Given the description of an element on the screen output the (x, y) to click on. 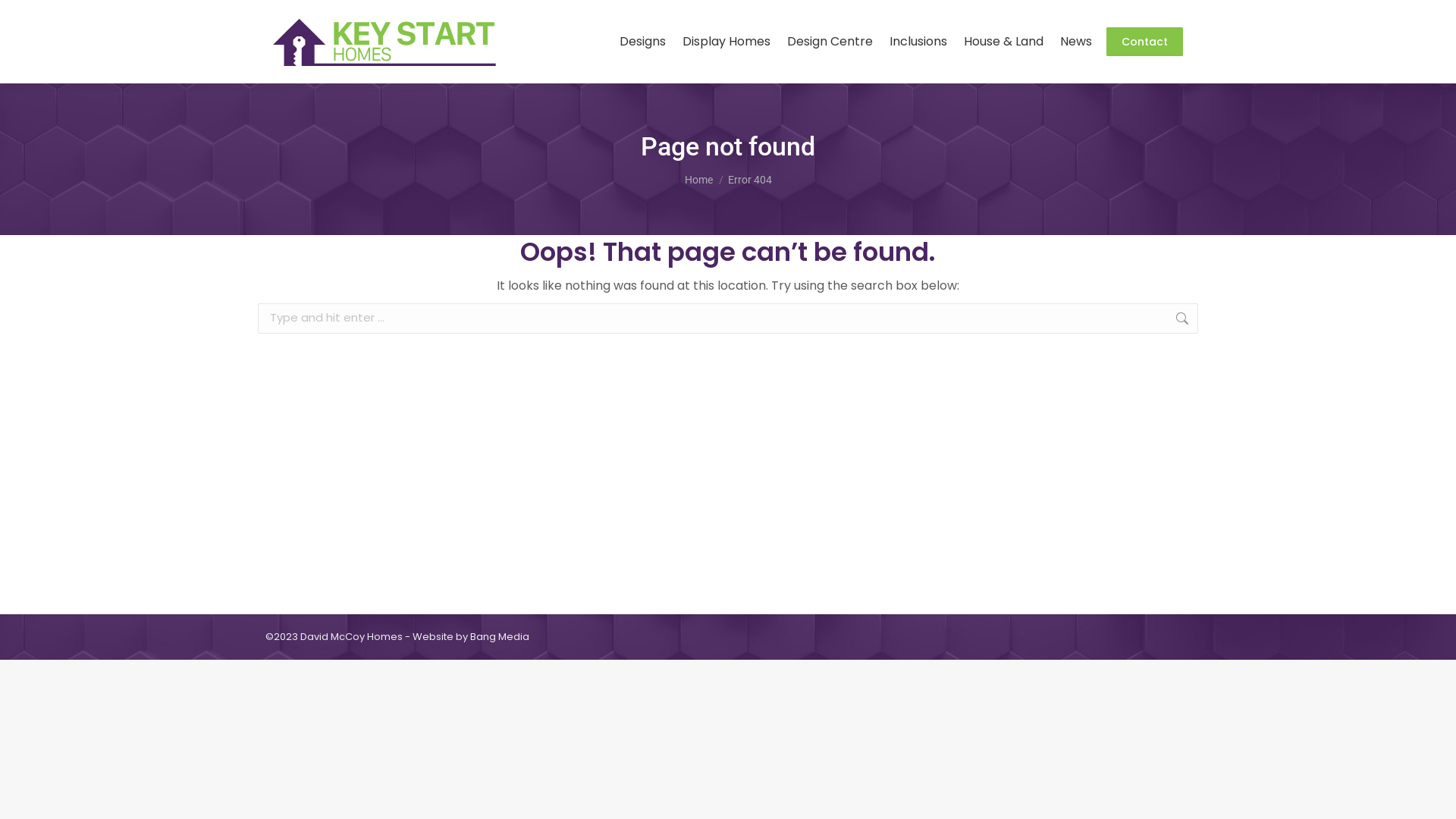
Home Element type: text (698, 179)
Contact Element type: text (1144, 41)
House & Land Element type: text (1003, 41)
Website by Bang Media Element type: text (470, 636)
Design Centre Element type: text (829, 41)
Go! Element type: text (1221, 319)
News Element type: text (1076, 41)
Display Homes Element type: text (726, 41)
Designs Element type: text (642, 41)
Inclusions Element type: text (918, 41)
